Given the description of an element on the screen output the (x, y) to click on. 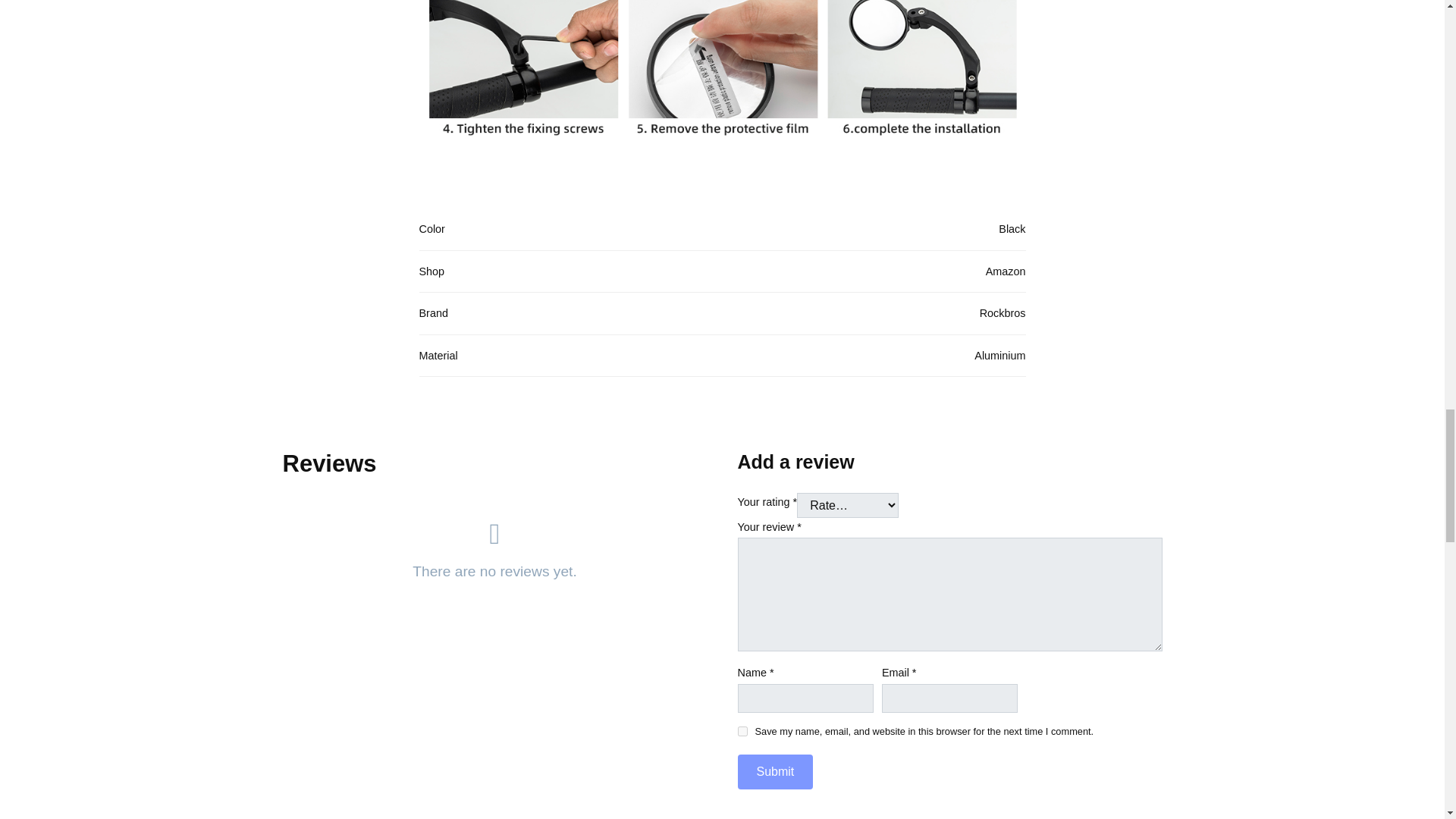
Submit (774, 771)
yes (741, 731)
